Given the description of an element on the screen output the (x, y) to click on. 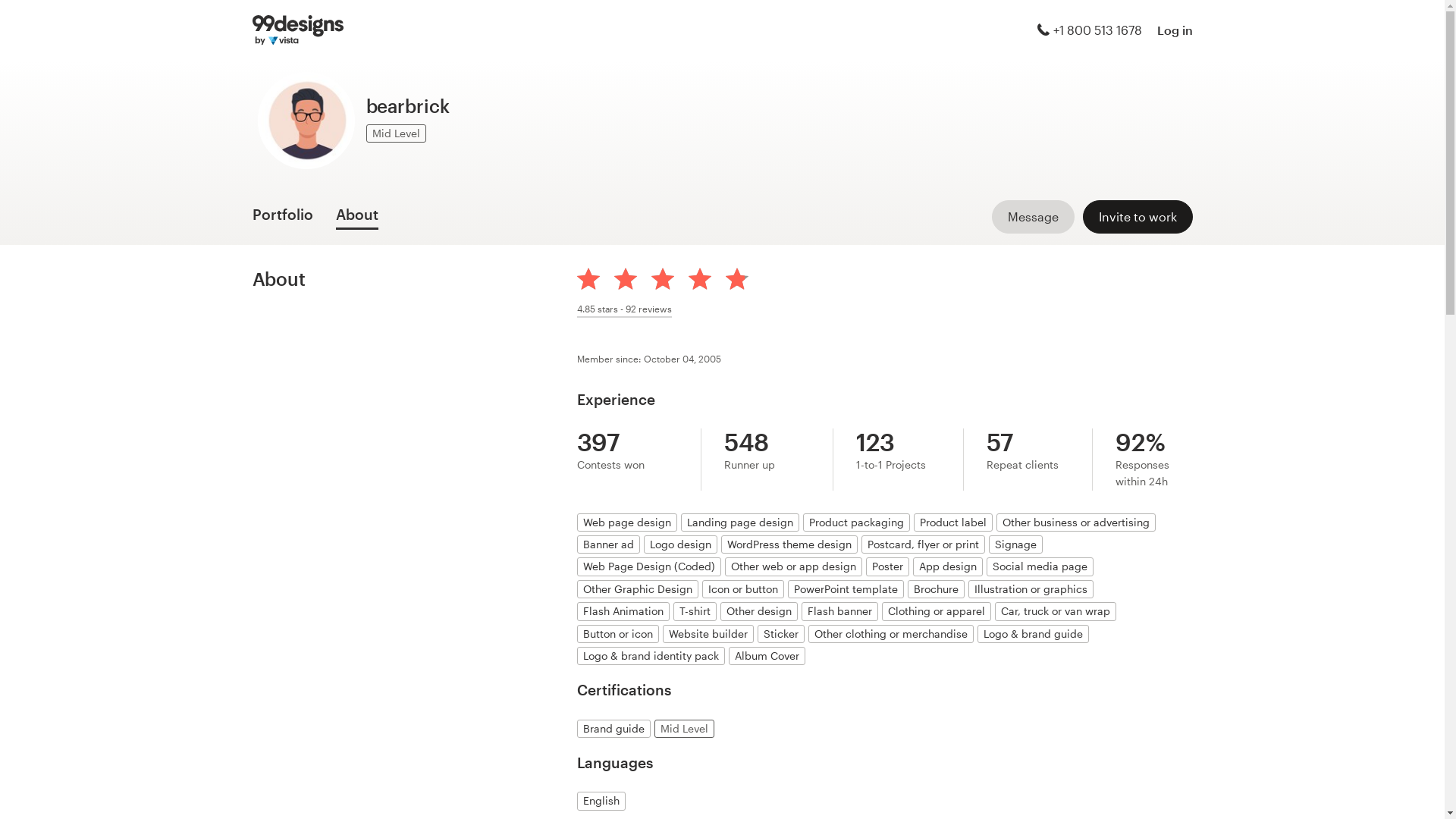
Portfolio Element type: text (281, 218)
Invite to work Element type: text (1137, 216)
Message Element type: text (1032, 216)
4.85 stars - 92 reviews Element type: text (624, 308)
About Element type: text (356, 218)
Log in Element type: text (1174, 30)
99designs by Vista Element type: hover (296, 30)
